Given the description of an element on the screen output the (x, y) to click on. 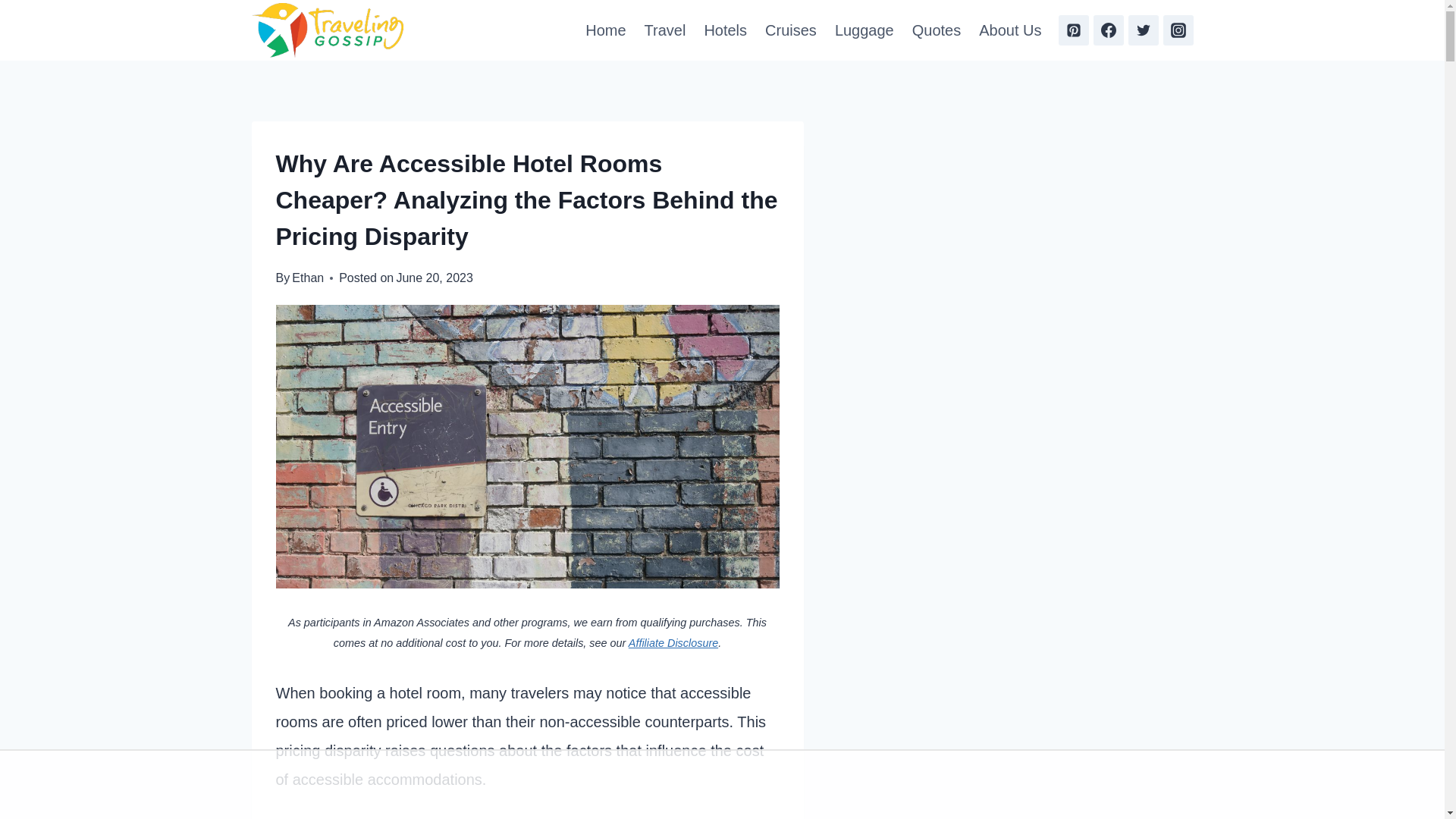
Cruises (790, 30)
Ethan (307, 277)
About Us (1009, 30)
Home (605, 30)
Quotes (935, 30)
Luggage (863, 30)
Travel (664, 30)
Affiliate Disclosure (672, 643)
Hotels (724, 30)
